Given the description of an element on the screen output the (x, y) to click on. 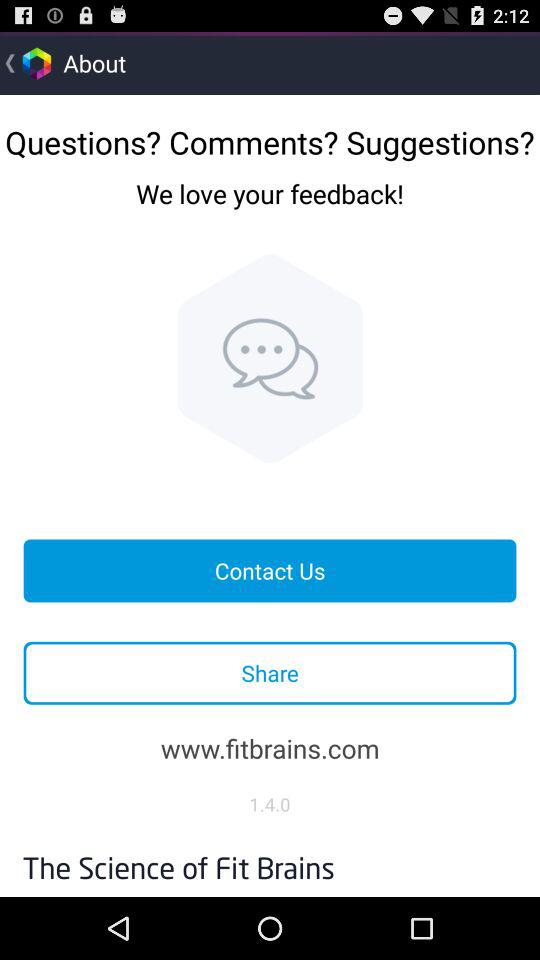
click item above contact us (270, 358)
